Given the description of an element on the screen output the (x, y) to click on. 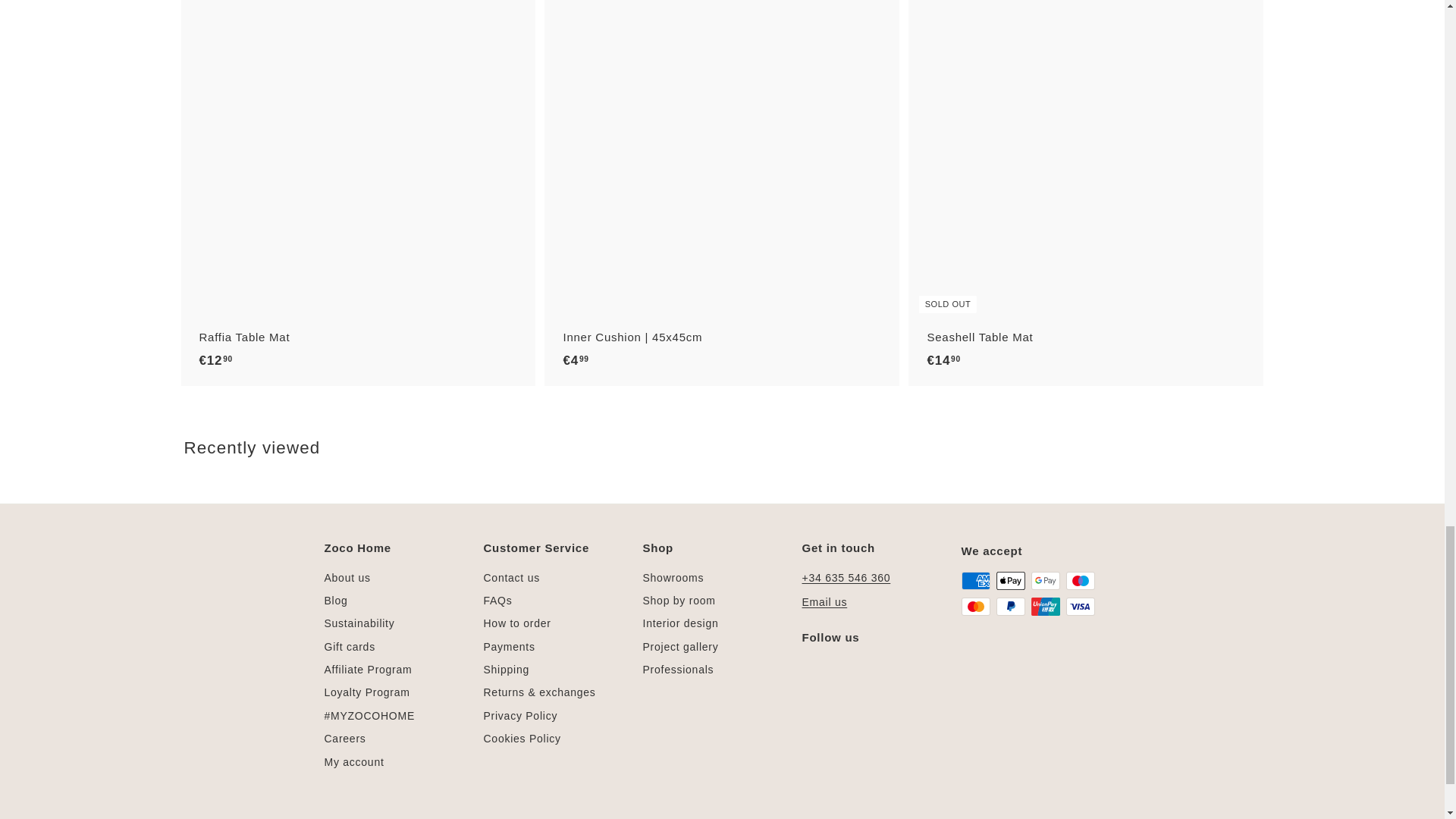
Union Pay (1044, 606)
American Express (975, 580)
Maestro (1079, 580)
Visa (1079, 606)
Google Pay (1044, 580)
PayPal (1010, 606)
Mastercard (975, 606)
Apple Pay (1010, 580)
